Given the description of an element on the screen output the (x, y) to click on. 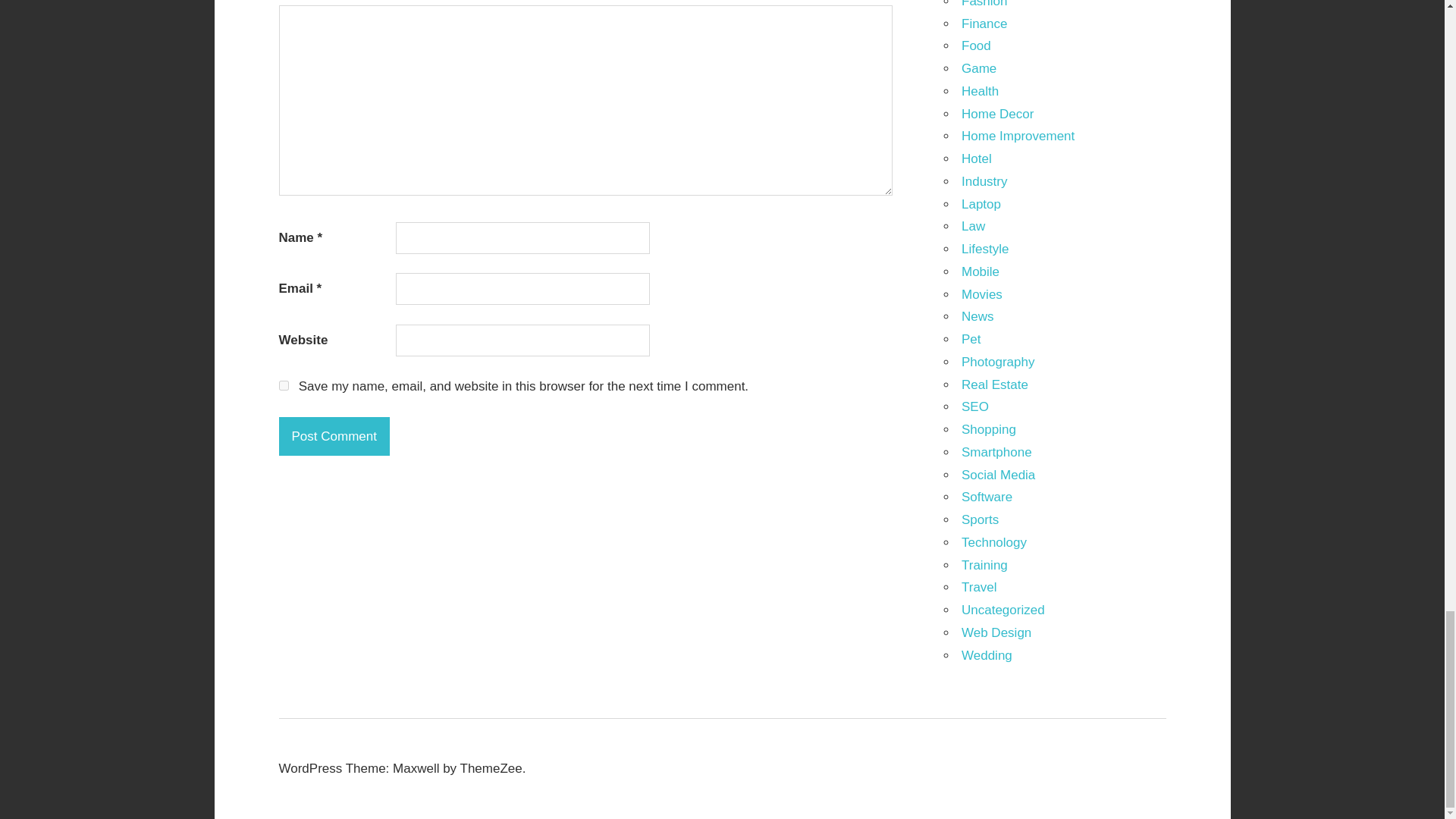
Post Comment (334, 435)
yes (283, 385)
Post Comment (334, 435)
